Given the description of an element on the screen output the (x, y) to click on. 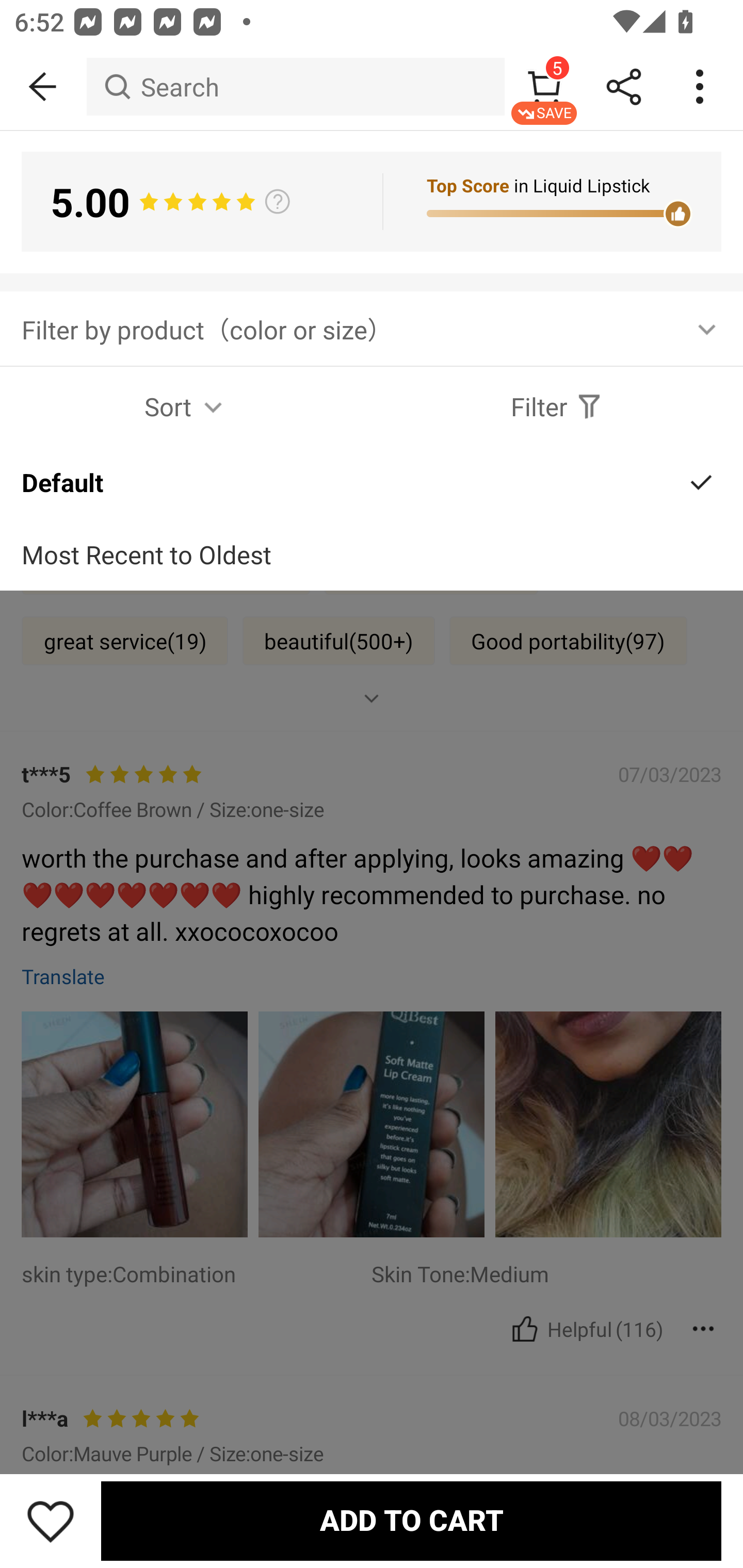
Default (371, 482)
Most Recent to Oldest (371, 555)
